Given the description of an element on the screen output the (x, y) to click on. 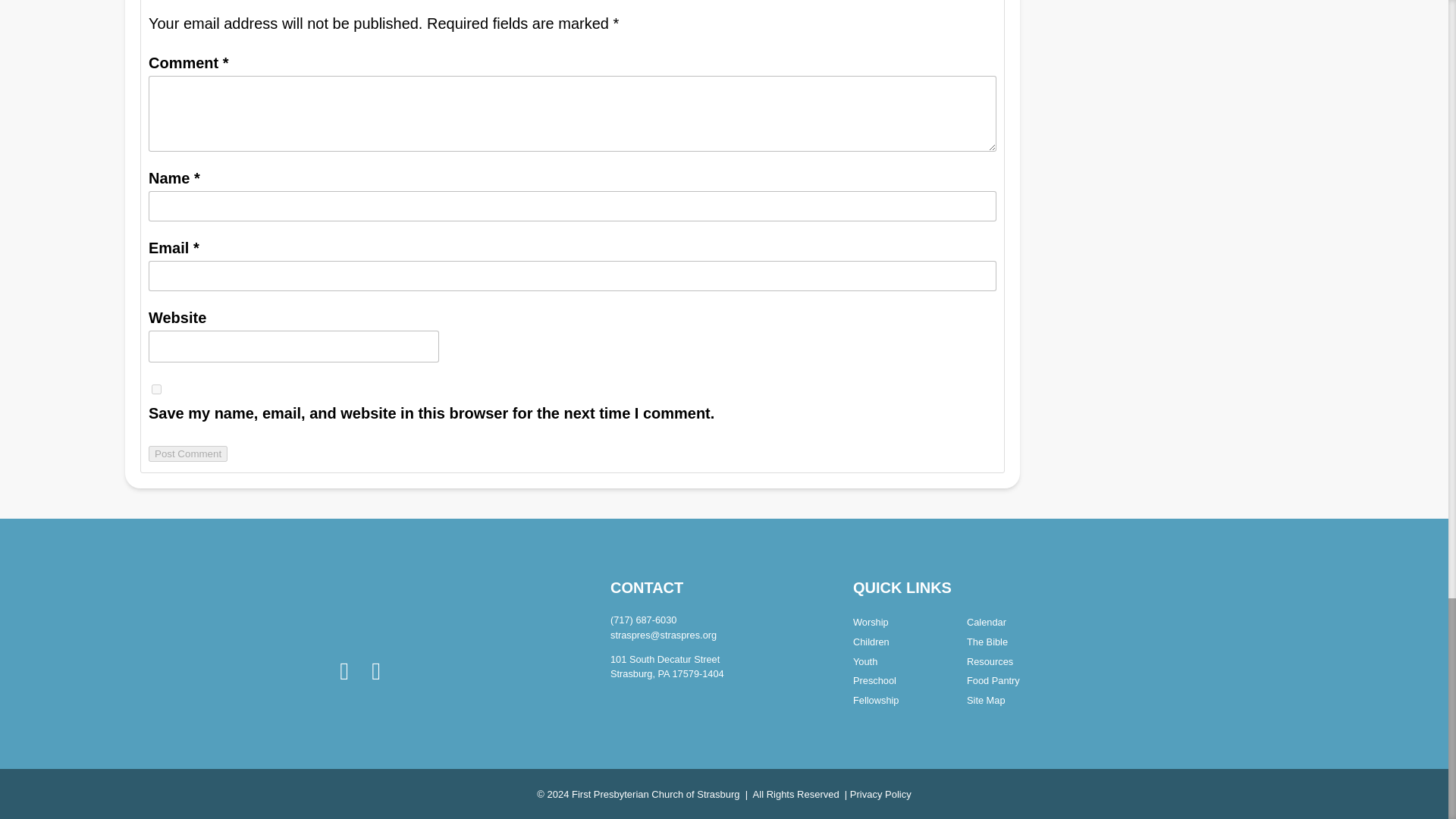
yes (156, 388)
Post Comment (187, 453)
Connect on Youtube (376, 671)
Connect on Facebook (344, 671)
